Given the description of an element on the screen output the (x, y) to click on. 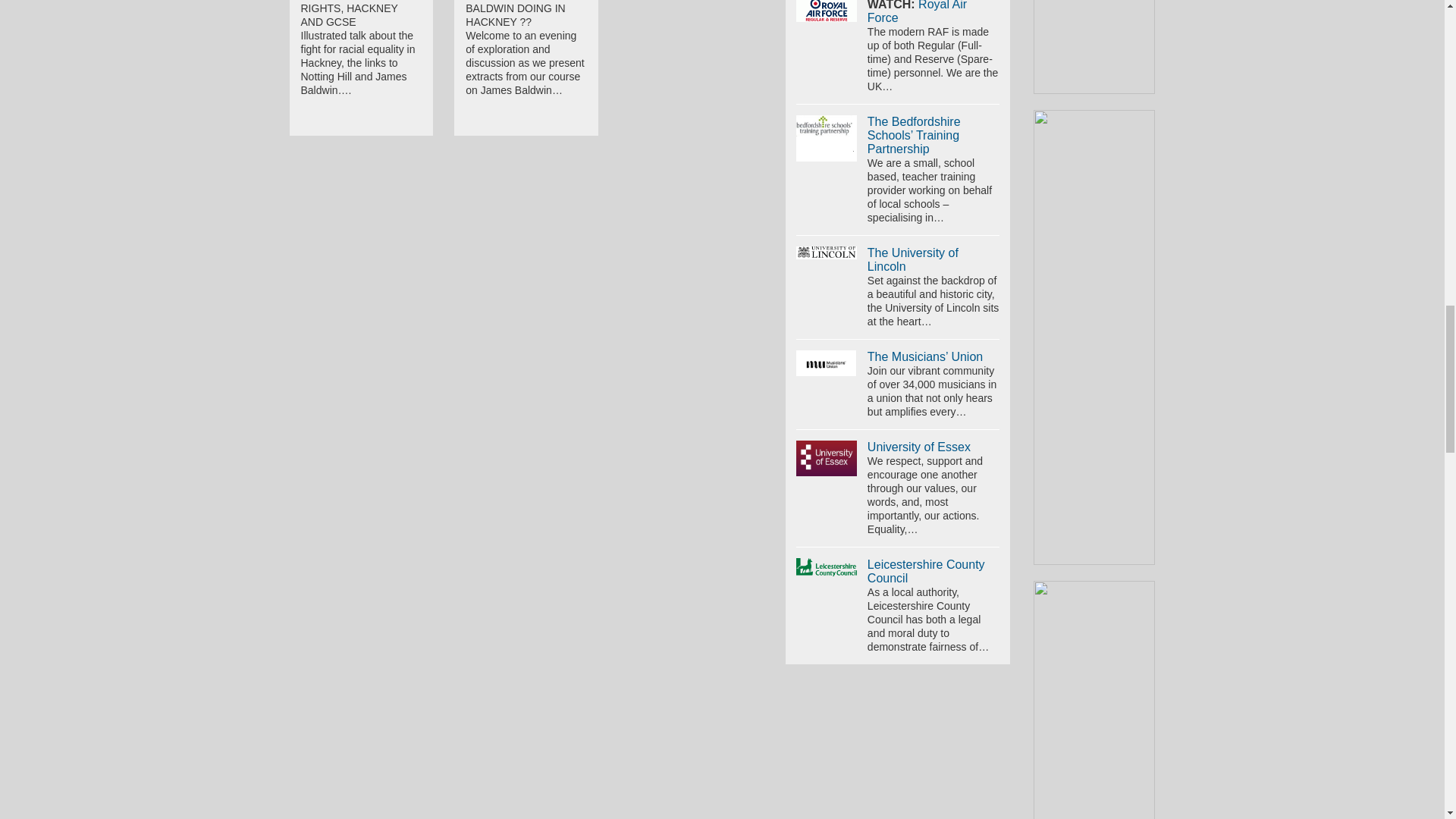
Black British Civil Rights, Hackney and GCSE (354, 13)
What was James Baldwin doing in Hackney ?? (514, 13)
